Given the description of an element on the screen output the (x, y) to click on. 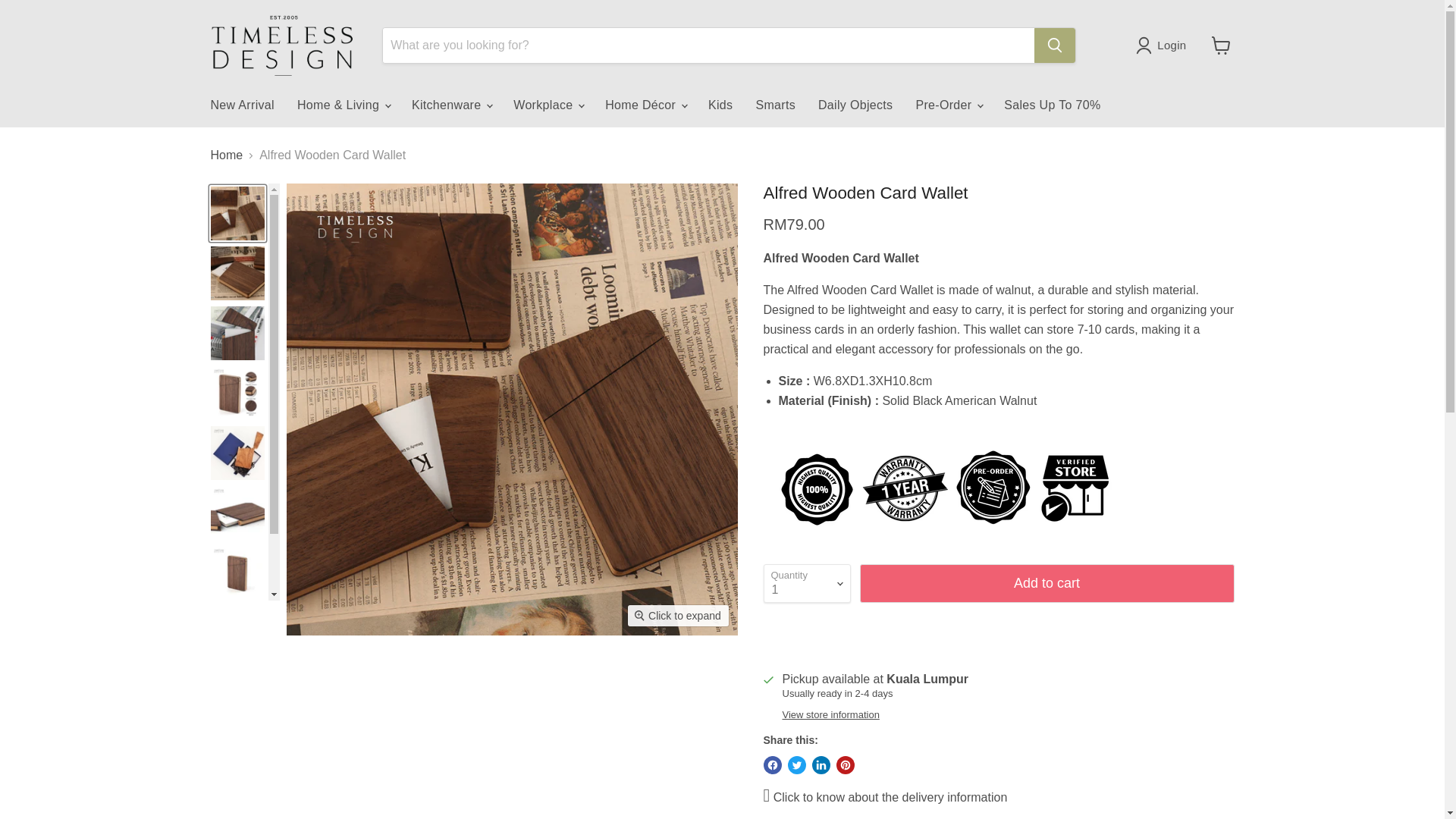
Alfred Wooden Card Wallet (840, 257)
View cart (1221, 45)
Daily Objects (855, 105)
Smarts (775, 105)
Kids (720, 105)
New Arrival (241, 105)
Login (1171, 45)
